Given the description of an element on the screen output the (x, y) to click on. 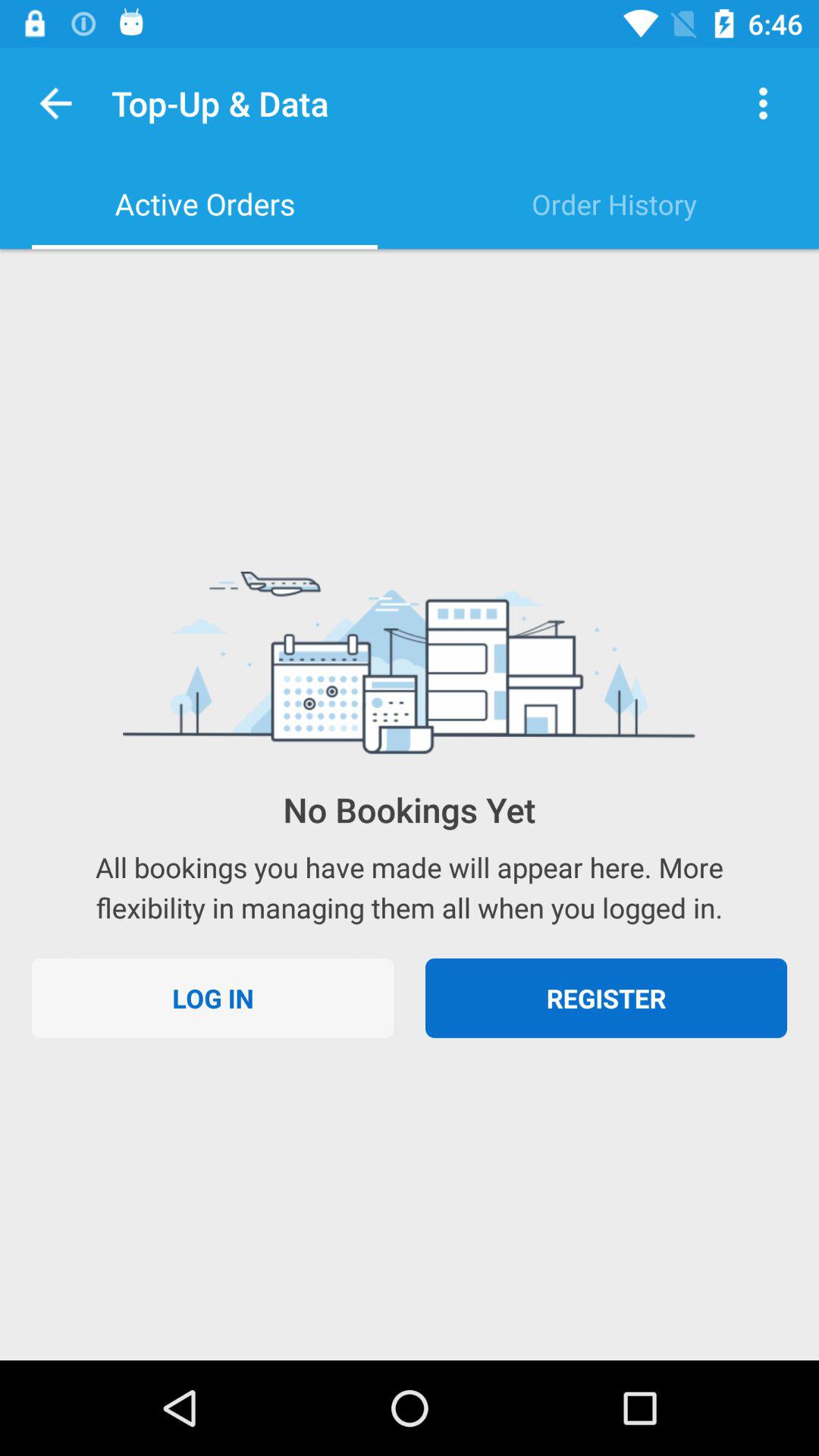
click the icon to the right of the log in item (606, 997)
